Given the description of an element on the screen output the (x, y) to click on. 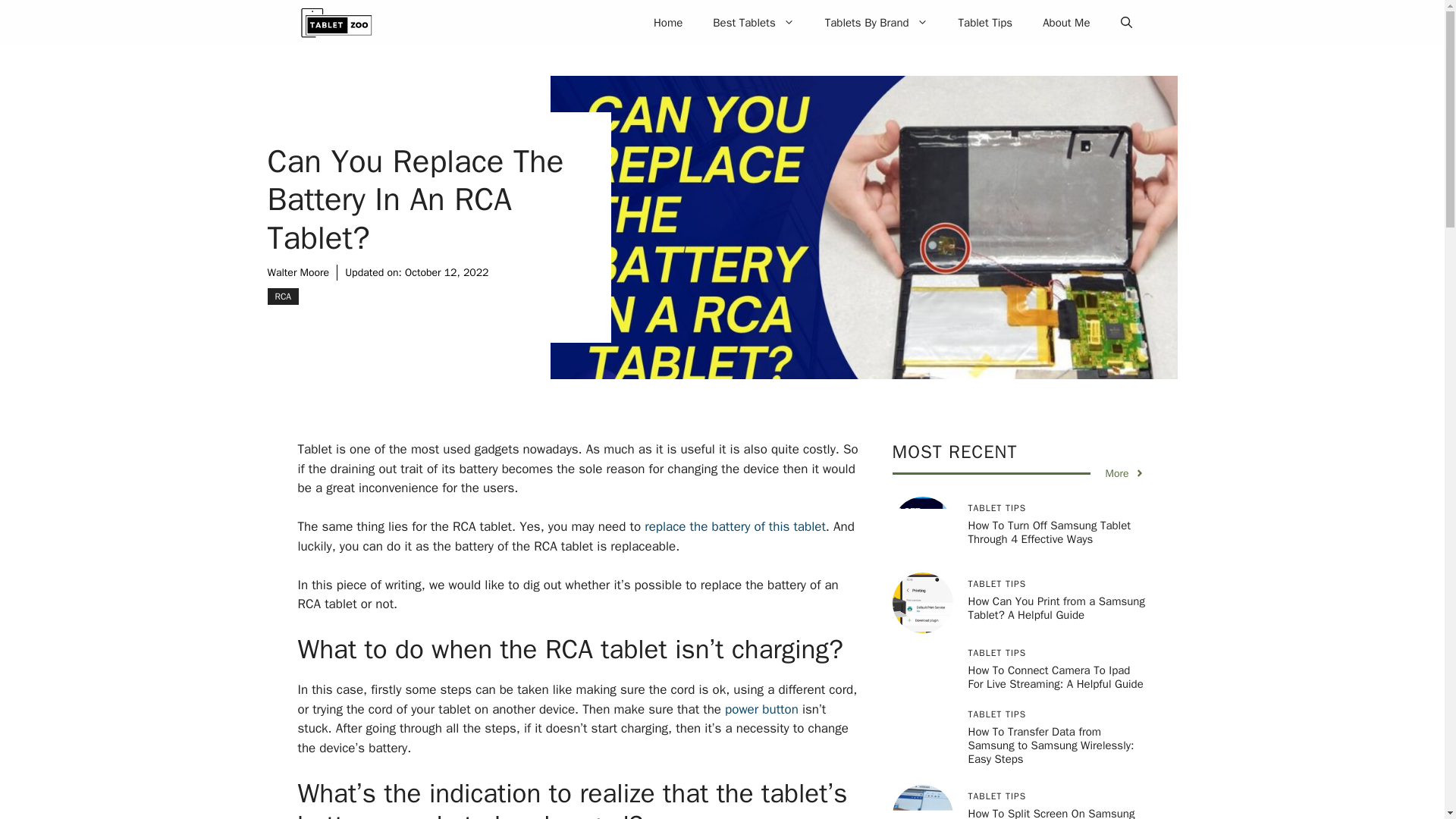
Tablets By Brand (876, 22)
More (1124, 473)
power button (761, 708)
Tablet Tips (985, 22)
Tablet Zoo (335, 22)
replace the battery of this tablet (735, 526)
How To Split Screen On Samsung Tablet: Step-by-Step Guide (1051, 812)
RCA (282, 296)
How To Turn Off Samsung Tablet Through 4 Effective Ways (1049, 532)
